Given the description of an element on the screen output the (x, y) to click on. 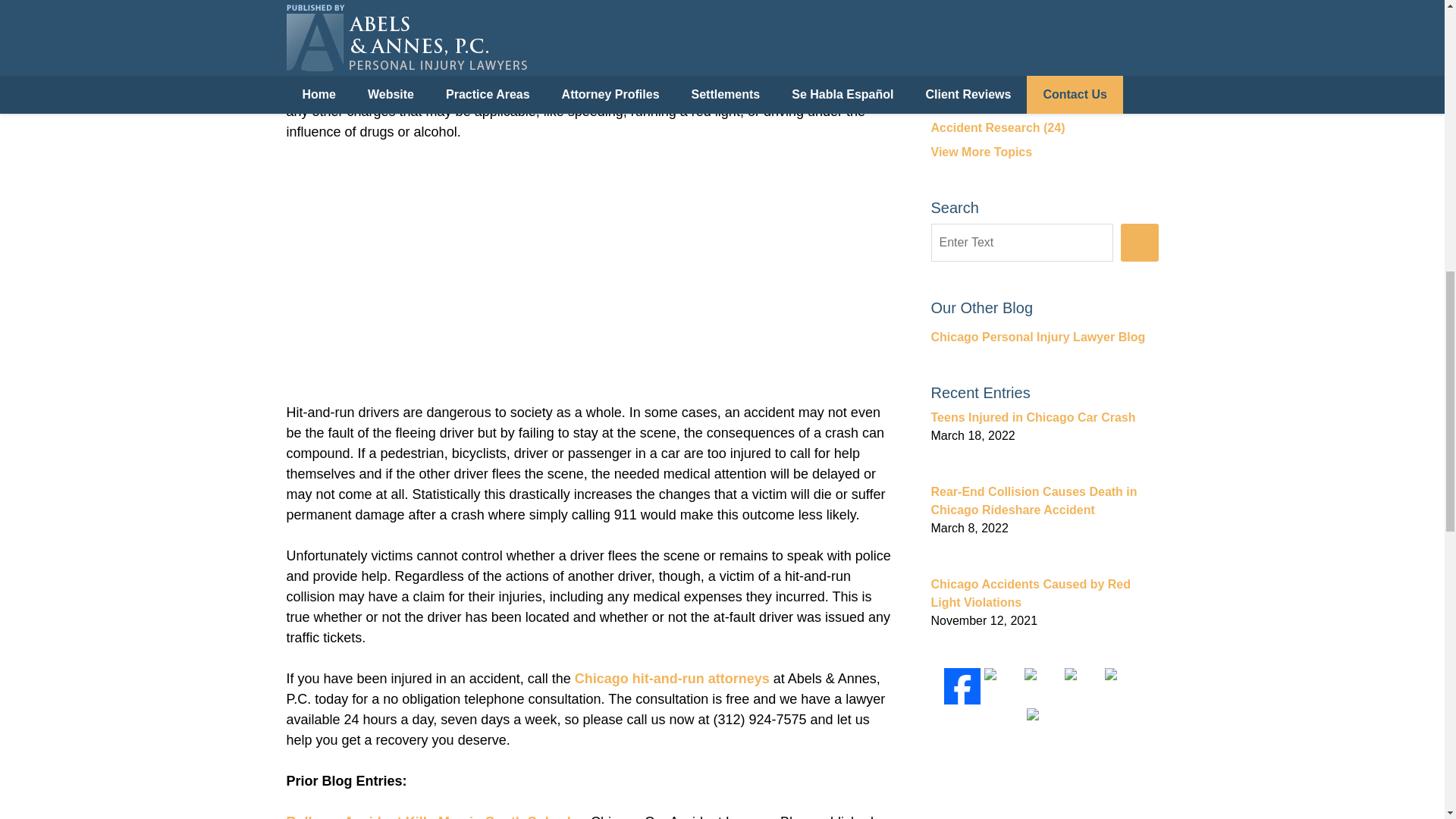
Facebook (961, 686)
Rollover Accident Kills Man in South Suburbs (434, 816)
Feed (1044, 714)
Twitter (1002, 686)
Justia (1082, 686)
LinkedIn (1043, 686)
Chicago hit-and-run attorneys (672, 678)
YouTube (1123, 686)
